Given the description of an element on the screen output the (x, y) to click on. 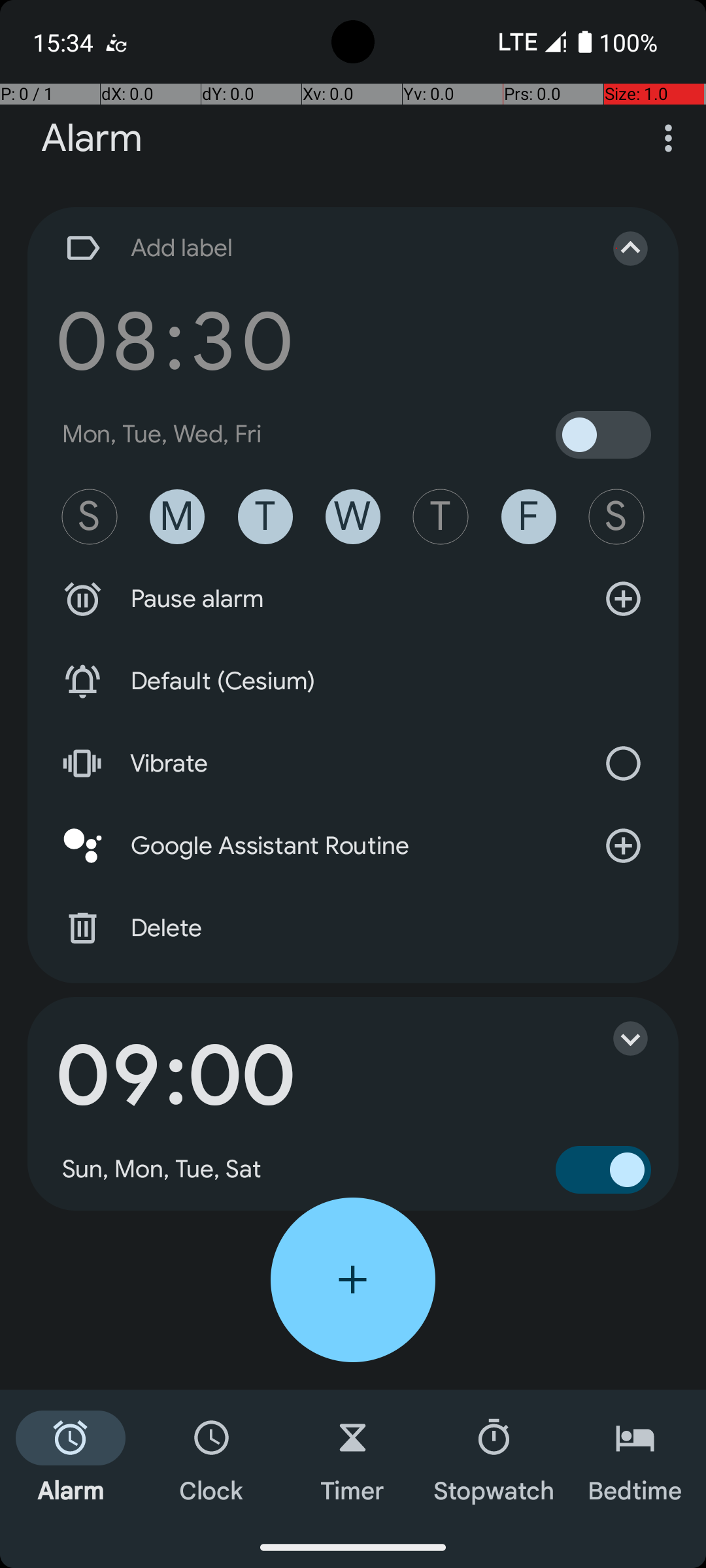
Add label Element type: android.widget.TextView (318, 248)
Collapse alarm Element type: android.widget.ImageButton (616, 248)
Mon, Tue, Wed, Fri Element type: android.widget.TextView (161, 433)
Pause alarm Element type: android.widget.TextView (352, 598)
Google Assistant Routine Element type: android.widget.TextView (352, 845)
Sun, Mon, Tue, Sat Element type: android.widget.TextView (161, 1169)
